Given the description of an element on the screen output the (x, y) to click on. 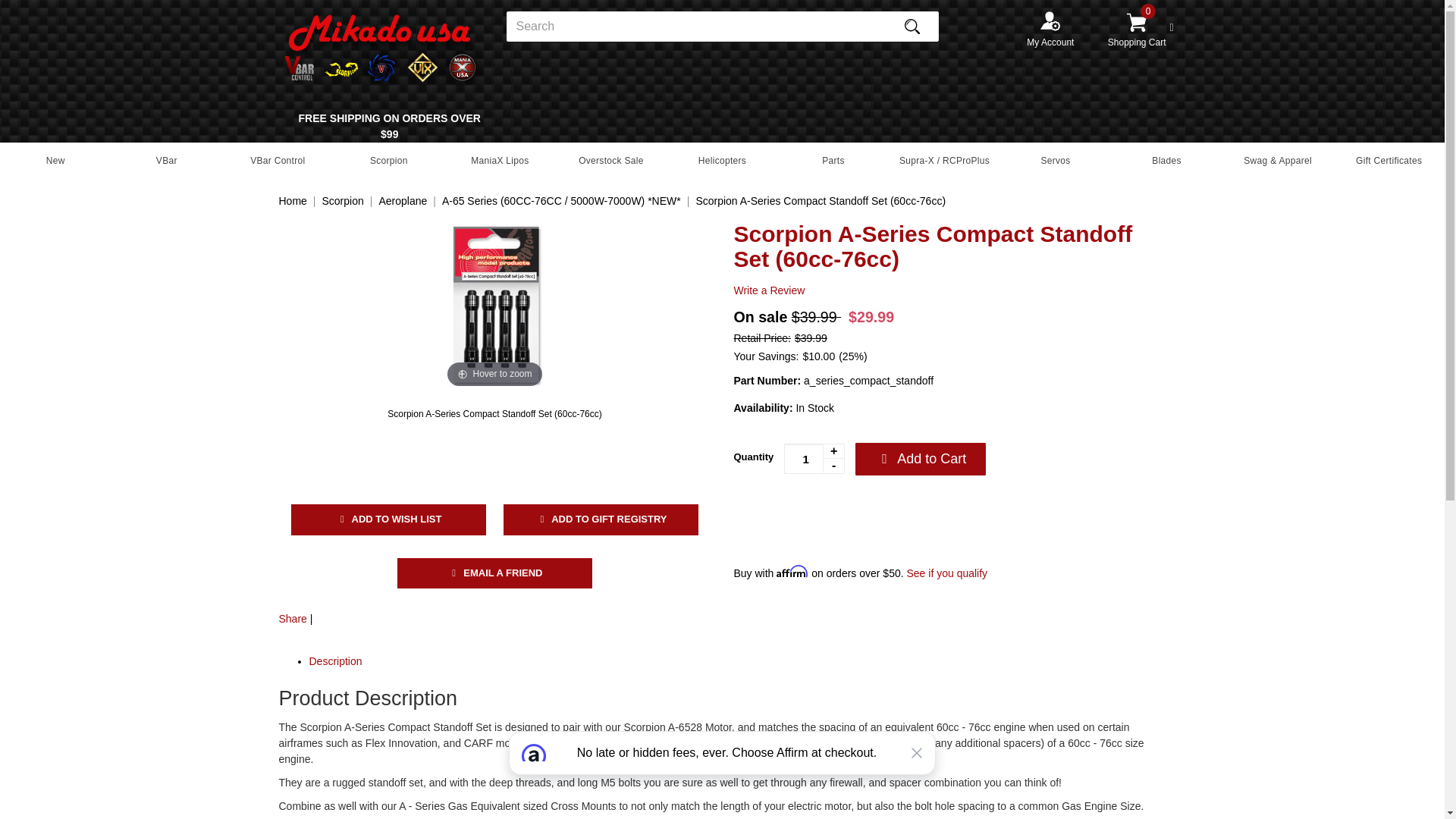
Aeroplane (402, 200)
Affirm (721, 775)
Scorpion (389, 161)
ManiaX Lipos (500, 161)
Scorpion (341, 200)
Servos (1056, 161)
VBar Control (277, 161)
Overstock Sale (611, 161)
PayPal (828, 515)
Blades (1166, 161)
Home (293, 200)
Parts (833, 161)
New (56, 161)
Helicopters (721, 161)
My Account (1050, 35)
